Given the description of an element on the screen output the (x, y) to click on. 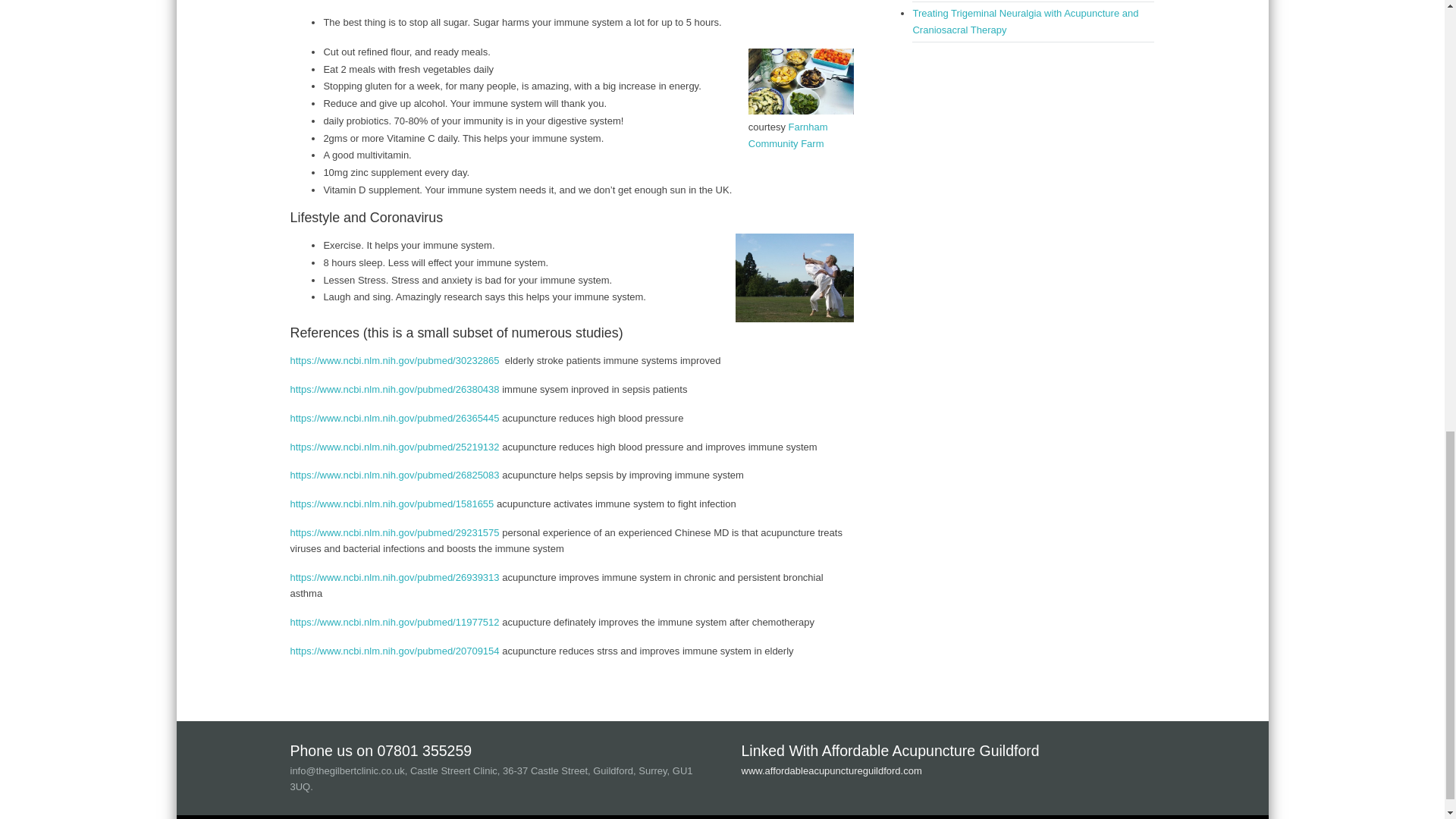
Farnham Community Farm (788, 134)
